Given the description of an element on the screen output the (x, y) to click on. 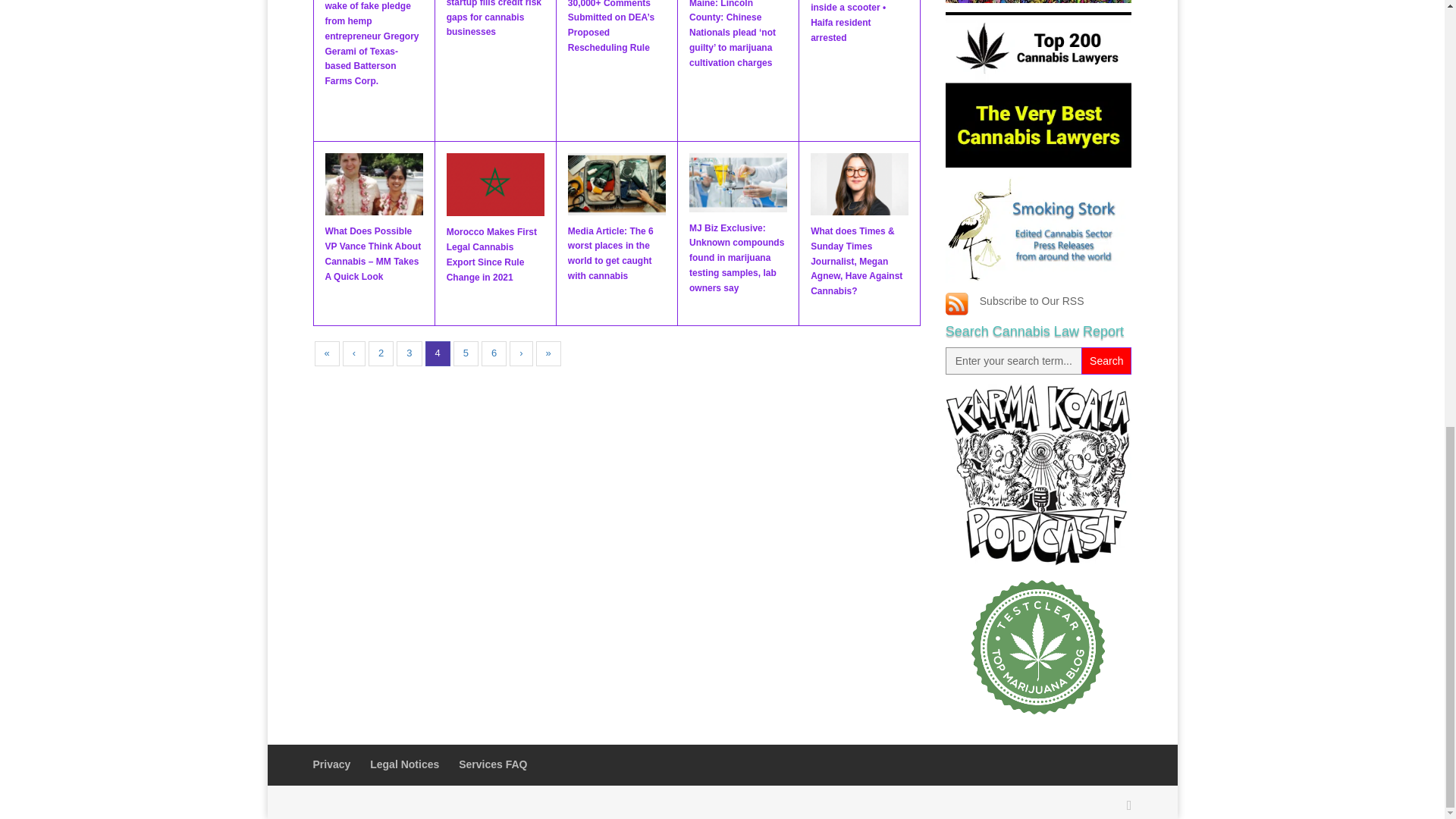
Go to page 3 (409, 353)
Go to next page (520, 353)
Go to page 6 (493, 353)
Search (1106, 360)
Go to page 5 (465, 353)
Go to page 2 (380, 353)
Go to first page (326, 353)
Go to last page (547, 353)
Search (1106, 360)
Current page is 4 (437, 353)
Go to previous page (353, 353)
